Given the description of an element on the screen output the (x, y) to click on. 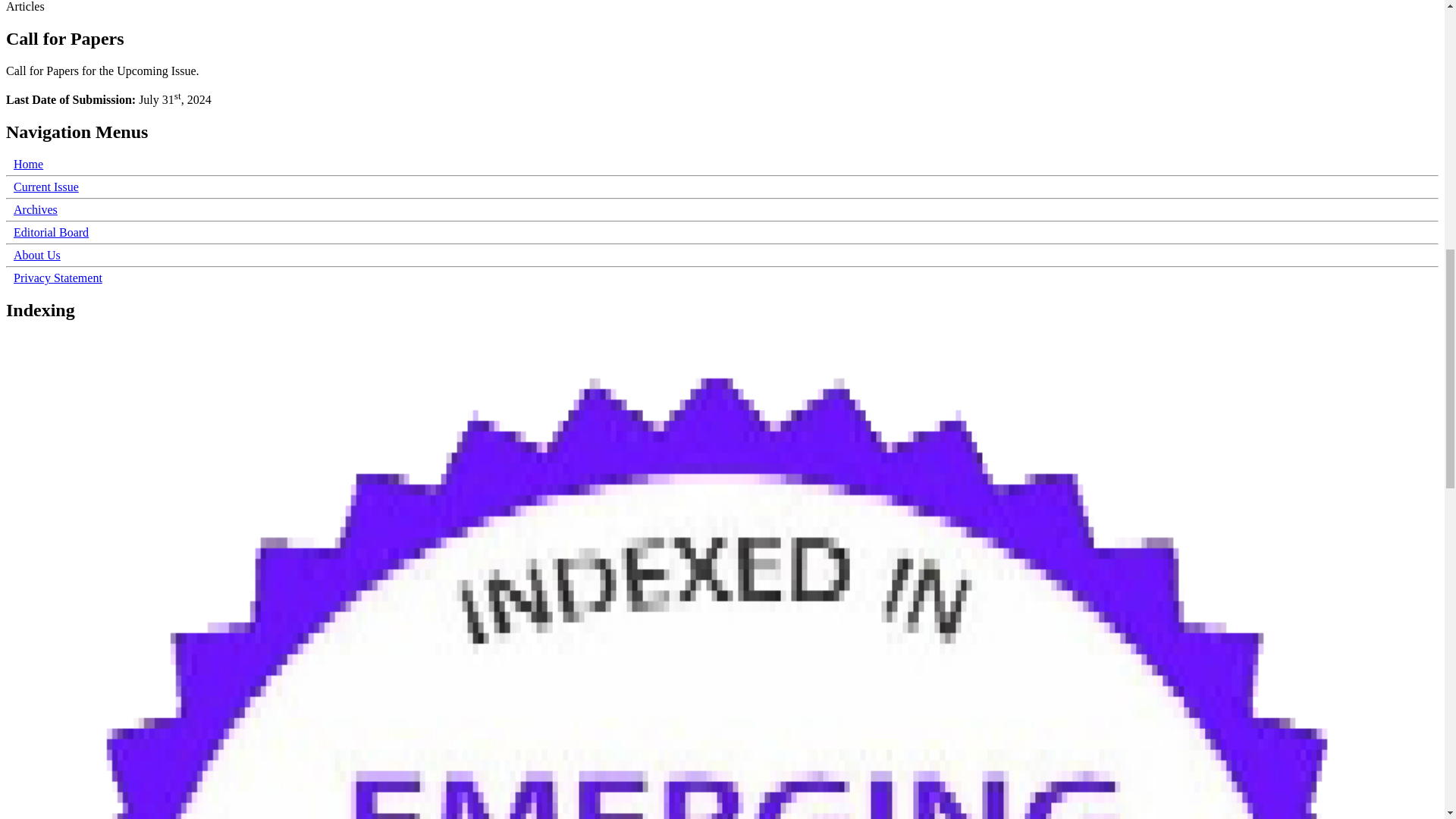
Home (28, 164)
Privacy Statement (57, 277)
About Us (37, 254)
Archives (35, 209)
Editorial Board (50, 232)
Current Issue (45, 186)
